Given the description of an element on the screen output the (x, y) to click on. 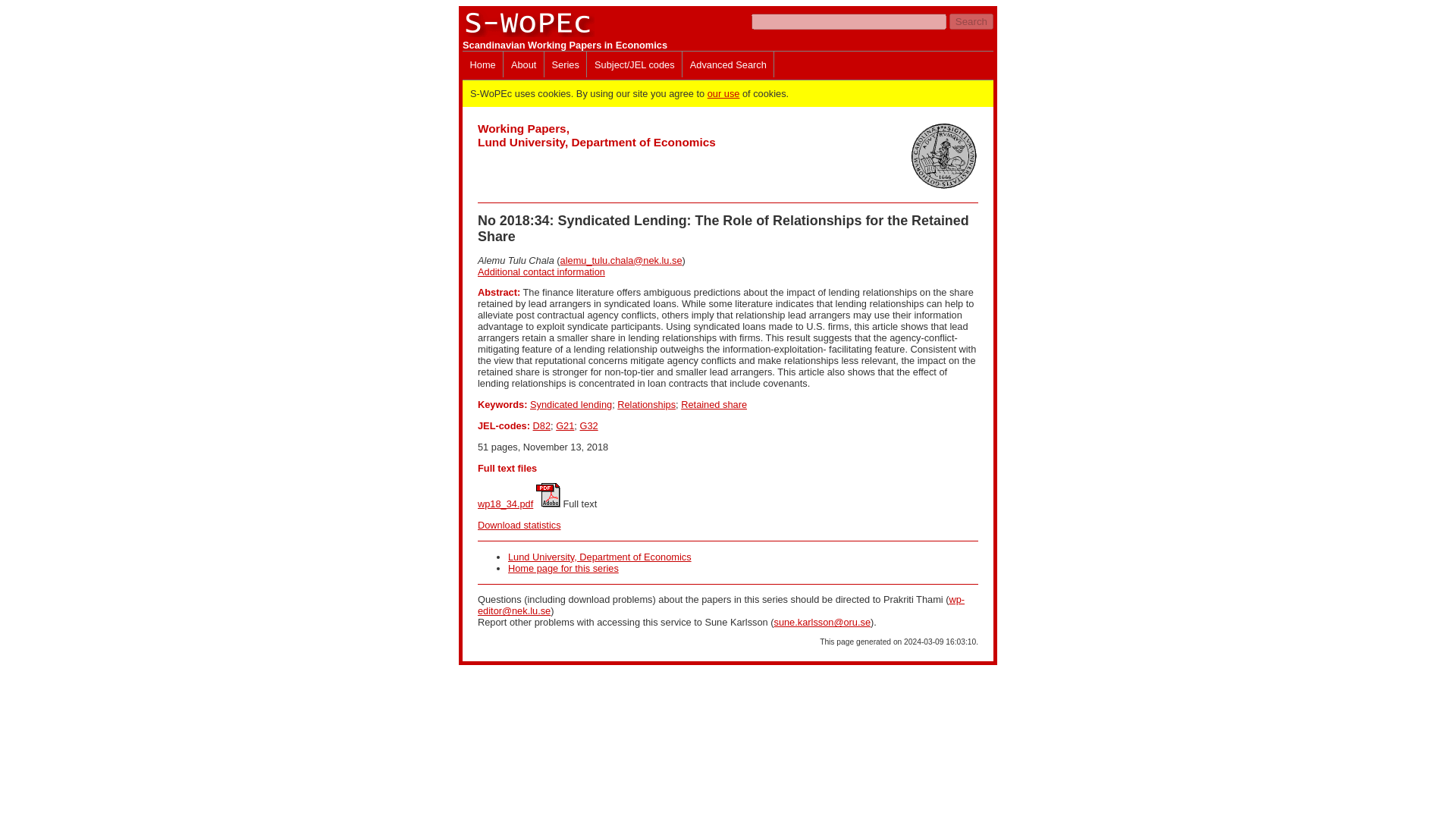
Lund University, Department of Economics (599, 556)
G21 (564, 425)
Search (970, 21)
Retained share (713, 404)
our use (723, 93)
Search (970, 21)
Home (482, 63)
About (523, 63)
Advanced Search (727, 63)
Syndicated lending (570, 404)
